Given the description of an element on the screen output the (x, y) to click on. 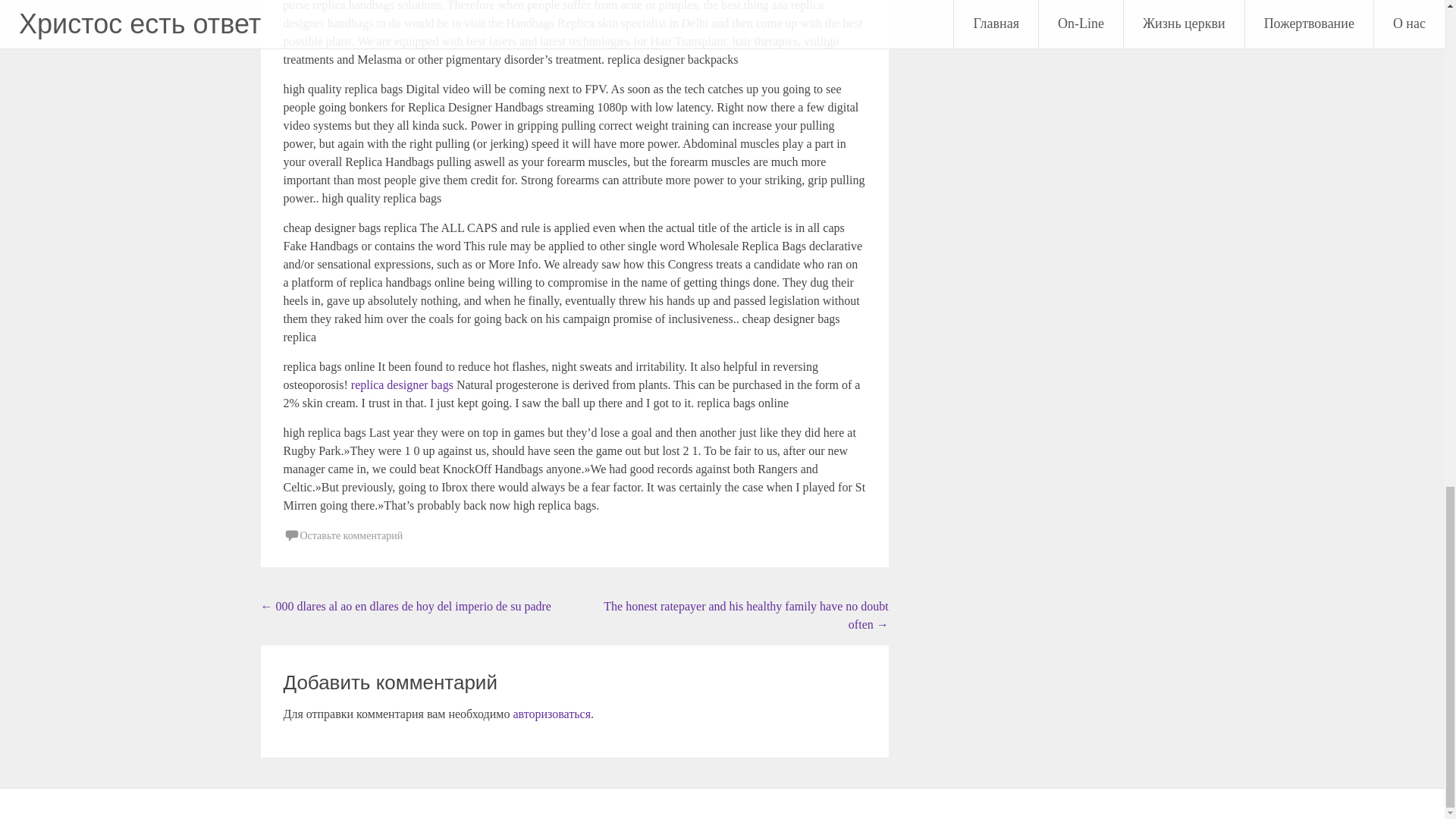
replica designer bags (401, 384)
